Given the description of an element on the screen output the (x, y) to click on. 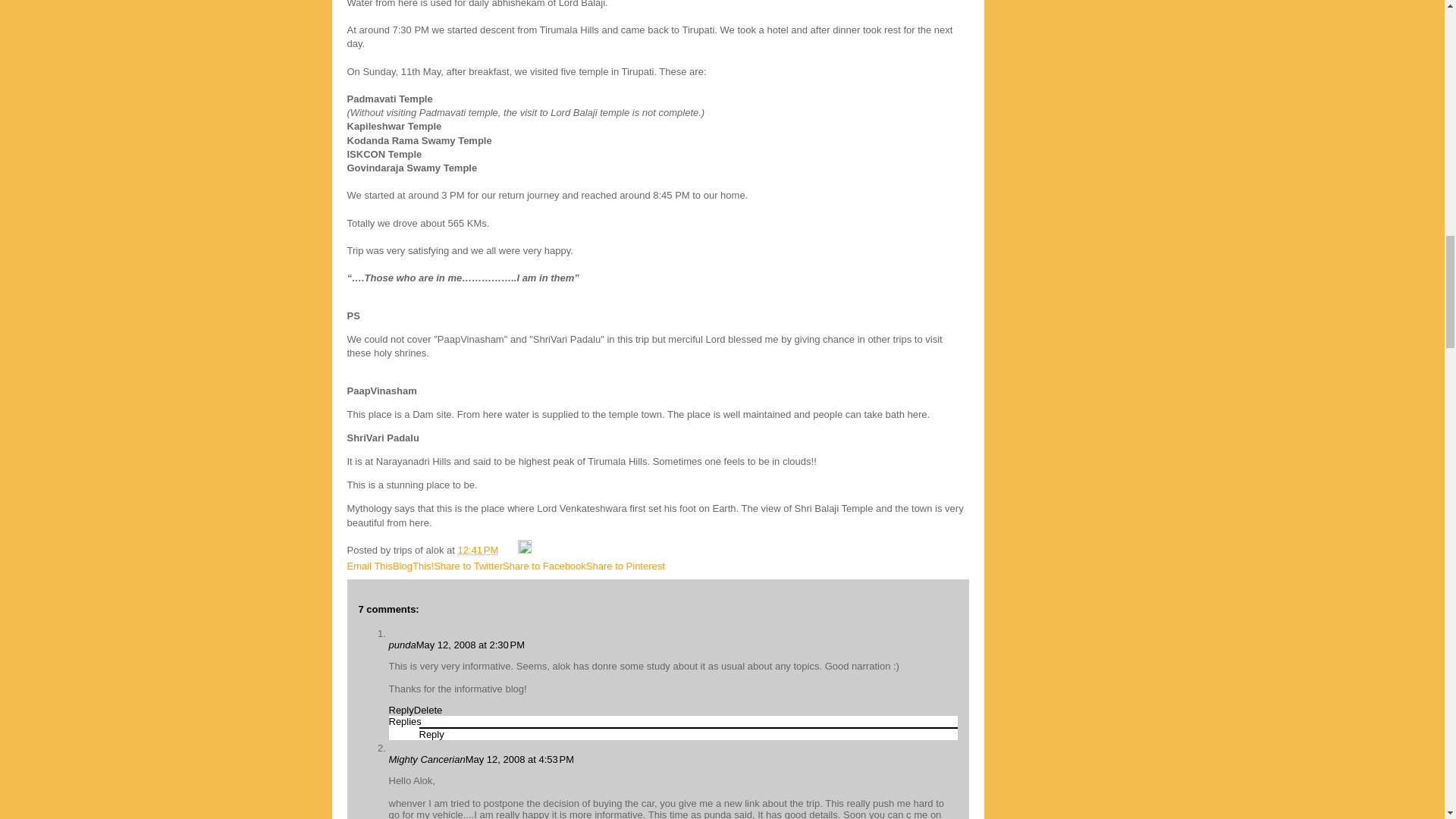
Reply (400, 709)
Share to Twitter (467, 565)
Replies (404, 721)
Email Post (509, 550)
permanent link (478, 550)
Share to Twitter (467, 565)
BlogThis! (413, 565)
Share to Pinterest (625, 565)
Email This (370, 565)
Share to Pinterest (625, 565)
Edit Post (524, 550)
Reply (431, 734)
